Given the description of an element on the screen output the (x, y) to click on. 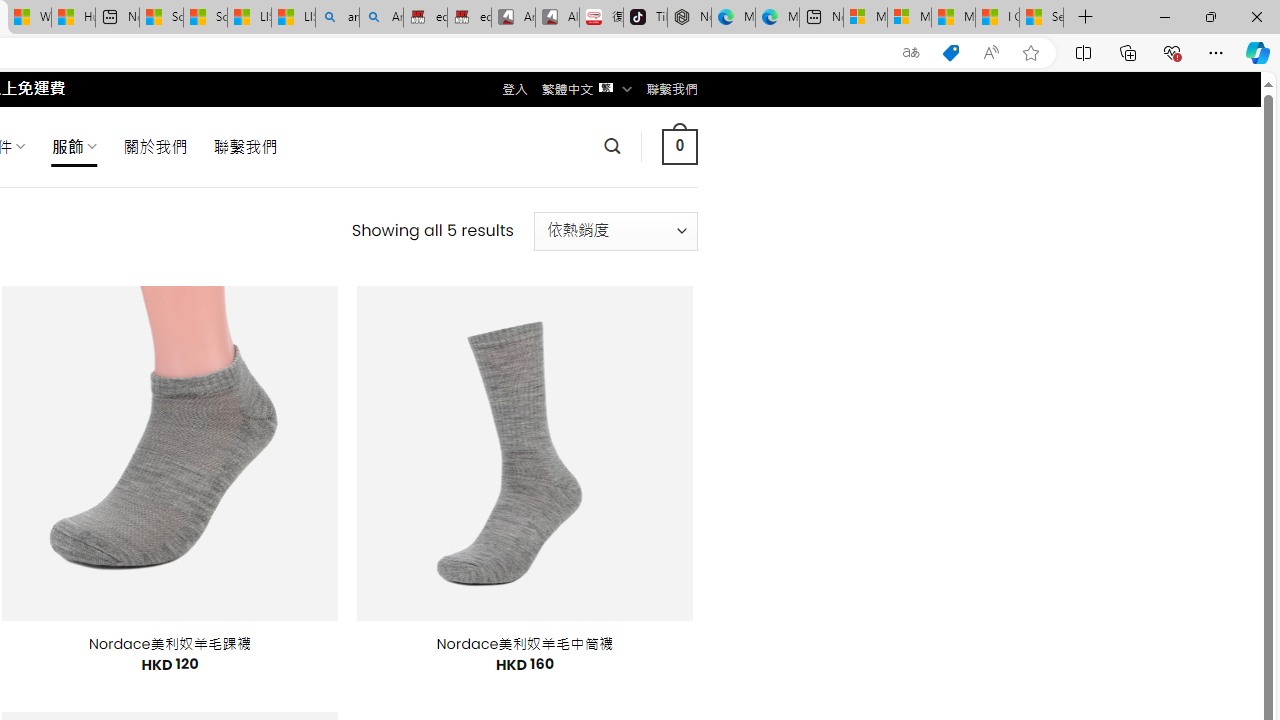
 0  (679, 146)
Microsoft account | Privacy (909, 17)
Nordace - Best Sellers (689, 17)
All Cubot phones (557, 17)
Huge shark washes ashore at New York City beach | Watch (73, 17)
TikTok (644, 17)
